Given the description of an element on the screen output the (x, y) to click on. 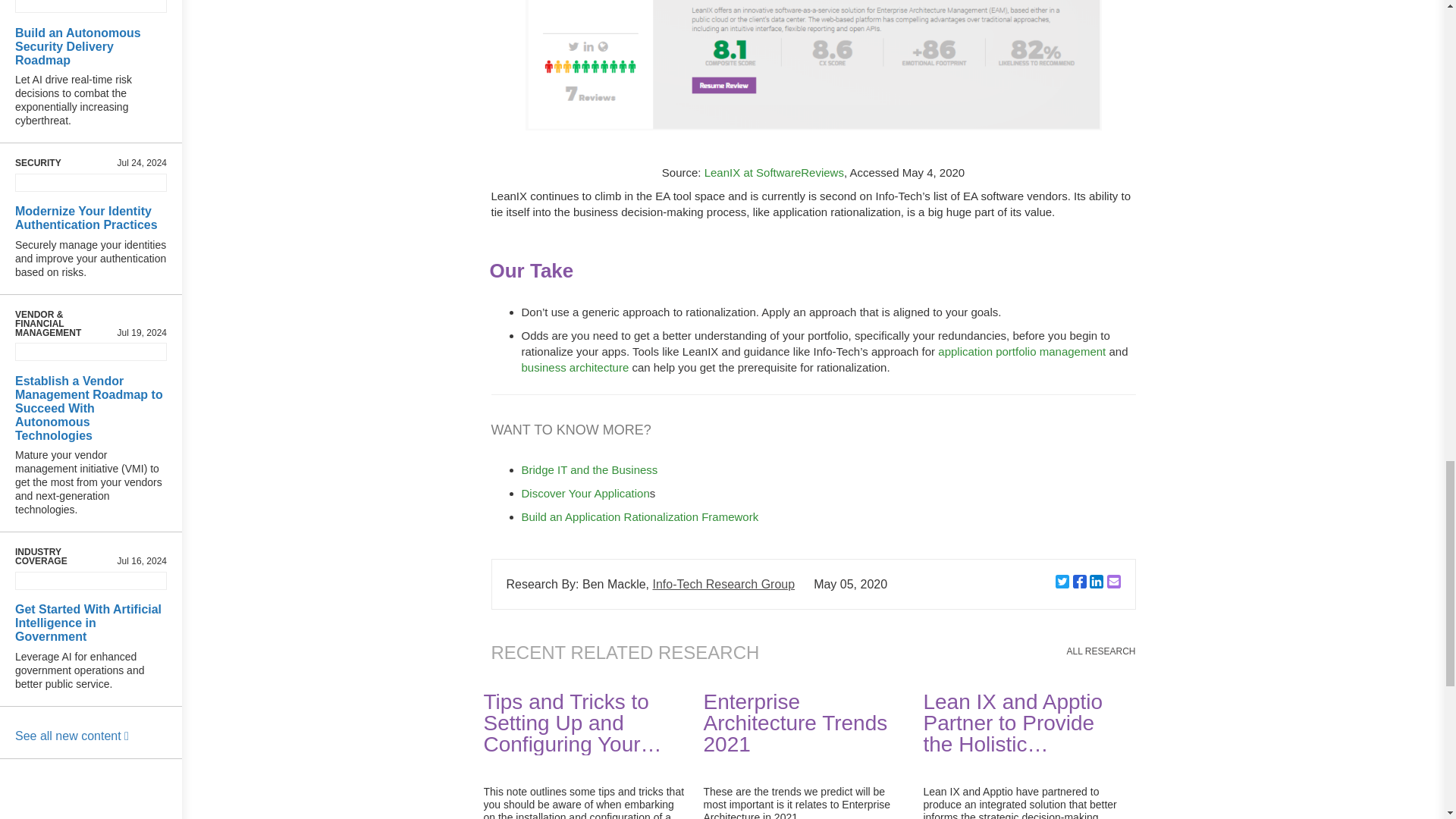
Share to Twitter (1061, 581)
Share to Facebook (1079, 581)
Share to Linkedin (1096, 581)
Share to Email (1113, 581)
